Given the description of an element on the screen output the (x, y) to click on. 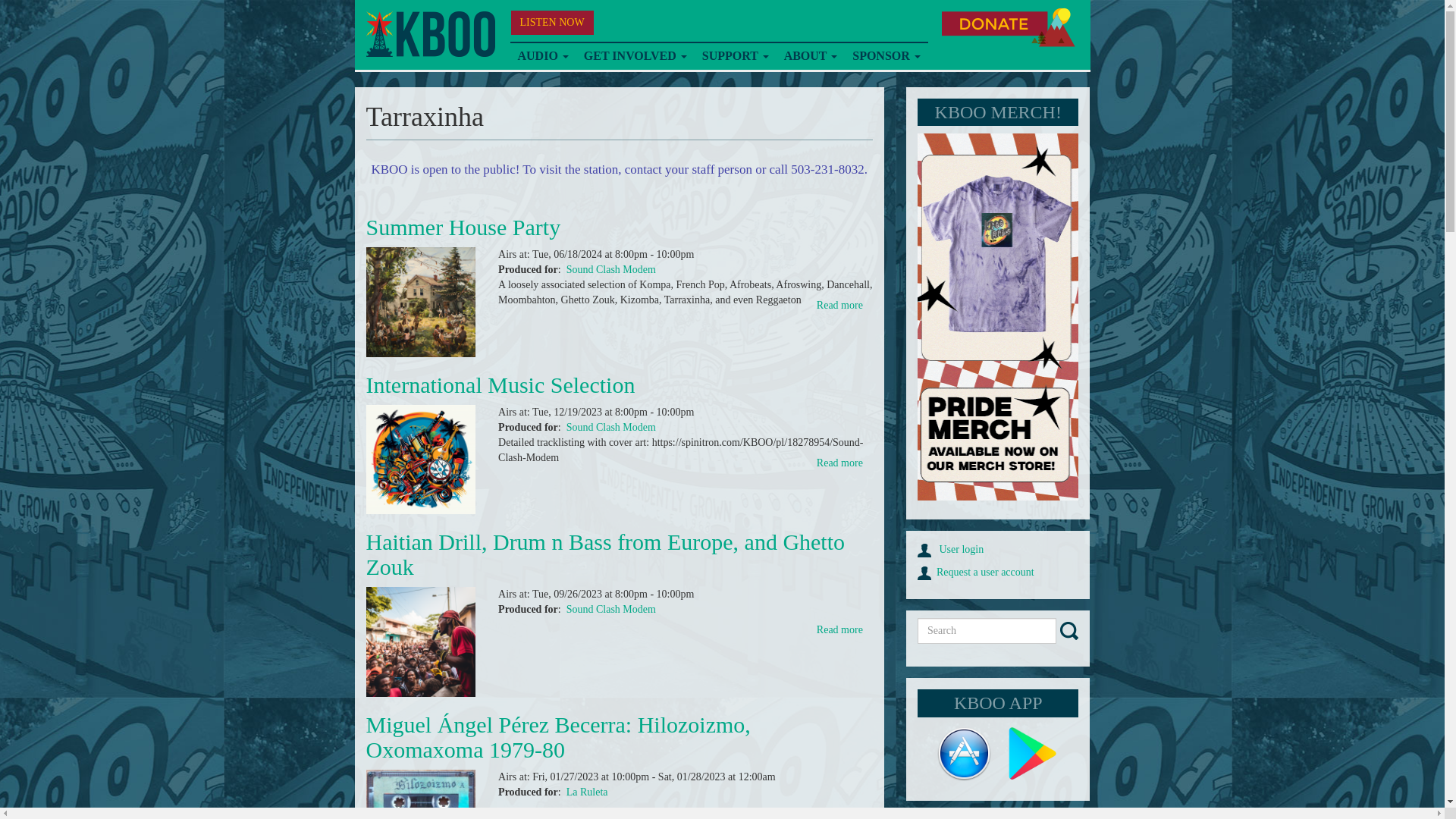
AUDIO (542, 55)
SUPPORT (735, 55)
ABOUT (810, 55)
SPONSOR (886, 55)
GET INVOLVED (635, 55)
Home (430, 34)
LISTEN NOW (551, 22)
